Given the description of an element on the screen output the (x, y) to click on. 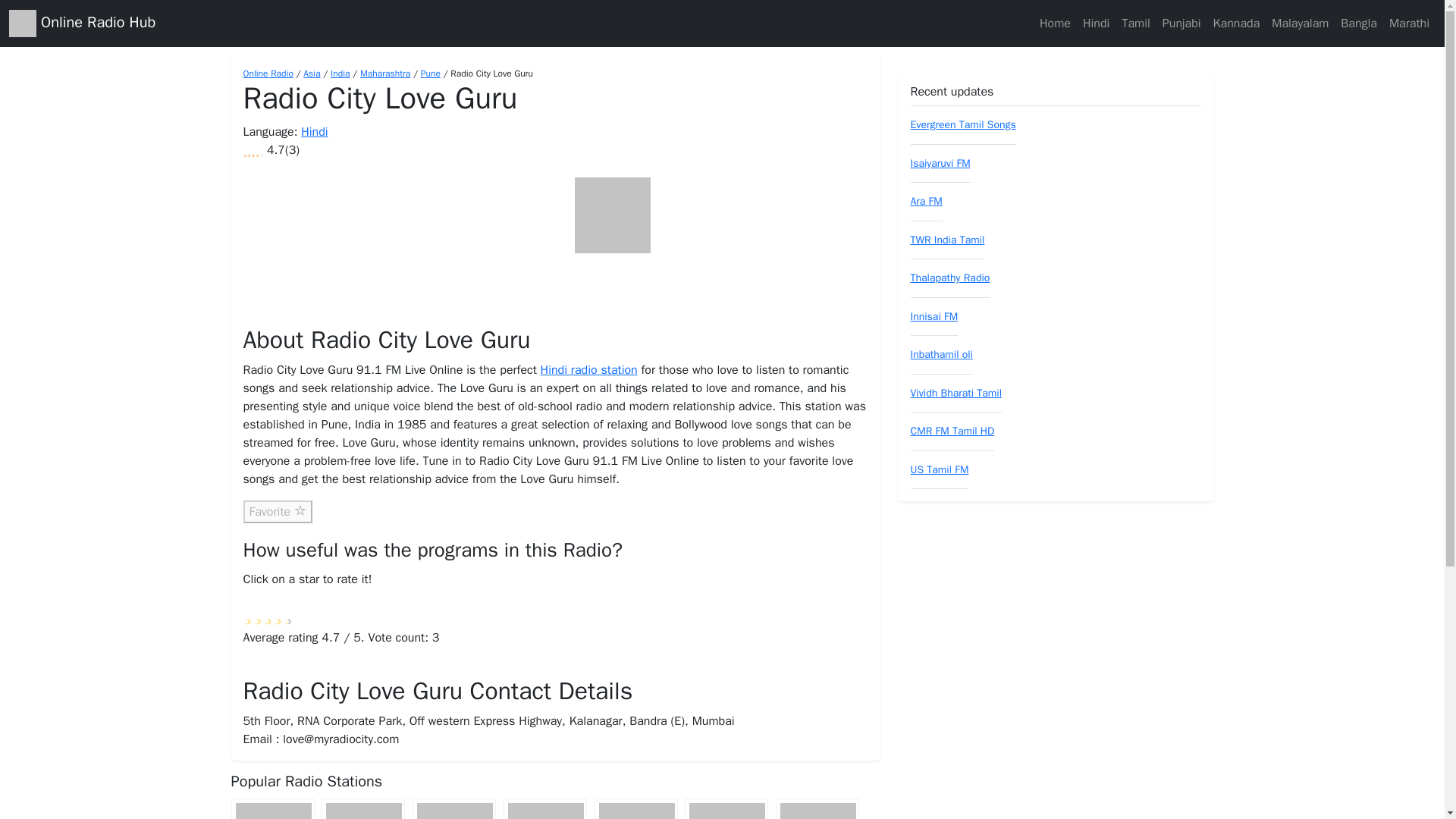
Marathi (1409, 23)
Hindi (314, 131)
Thalapathy Radio (950, 277)
Radio Pragya 90.4 MHZ (726, 808)
Pune (430, 73)
Malayalam (1300, 23)
Innisai FM (934, 316)
Sangeet Samvaad (454, 808)
Online Radio Hub (22, 22)
India (339, 73)
Mirchi Love Pune (272, 808)
Bangla (1359, 23)
Non Stop Hindi Radio (817, 808)
Ara FM (926, 201)
Tamil (1135, 23)
